Given the description of an element on the screen output the (x, y) to click on. 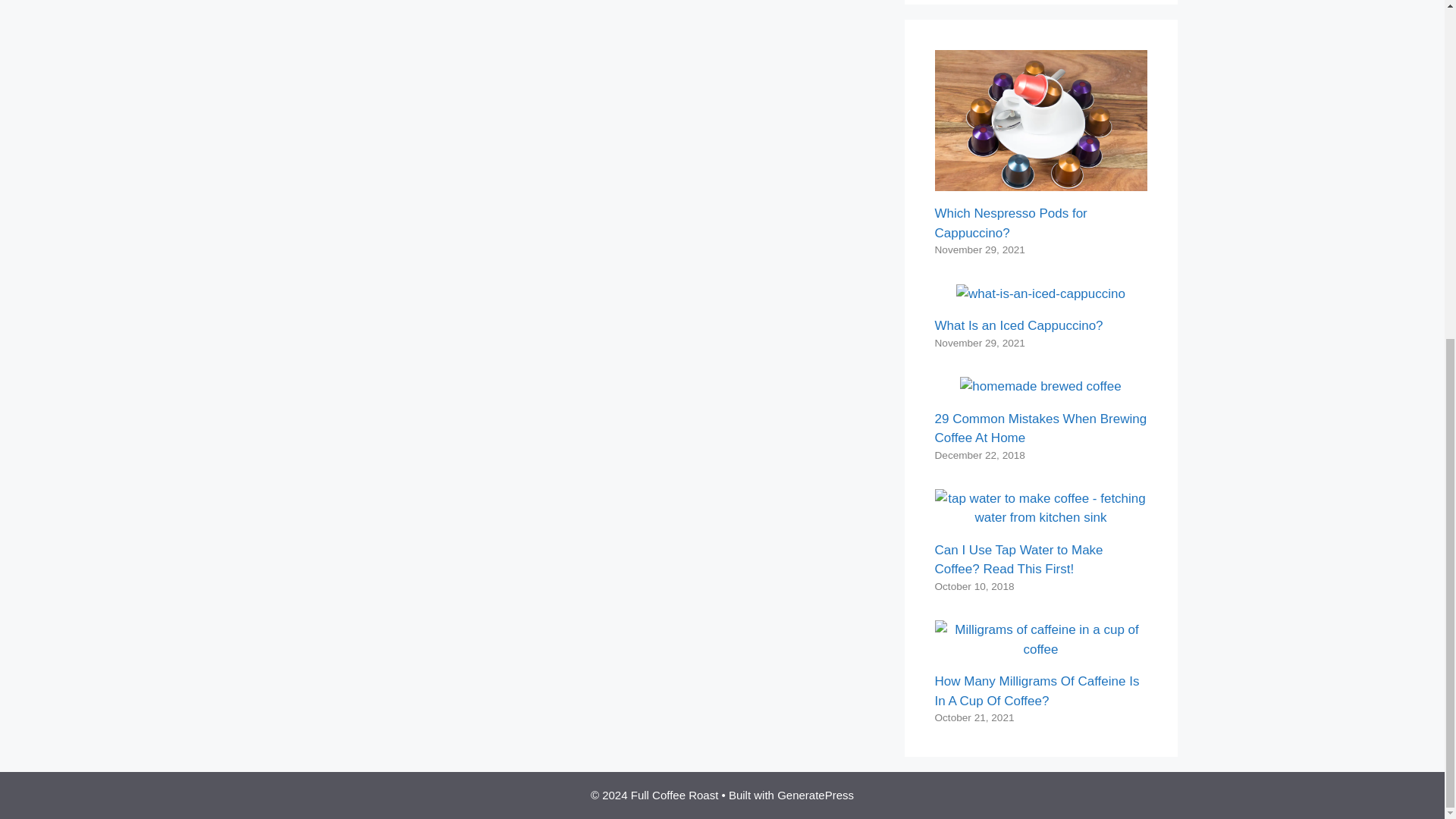
12:59 pm (973, 717)
Which Nespresso Pods for Cappuccino? (1040, 181)
2:02 pm (973, 586)
3:15 pm (979, 342)
How Many Milligrams Of Caffeine Is In A Cup Of Coffee? (1040, 649)
What Is an Iced Cappuccino? (1040, 293)
Can I Use Tap Water to Make Coffee? Read This First! (1040, 517)
8:31 am (979, 455)
3:15 pm (979, 249)
29 Common Mistakes When Brewing Coffee At Home (1040, 386)
